Given the description of an element on the screen output the (x, y) to click on. 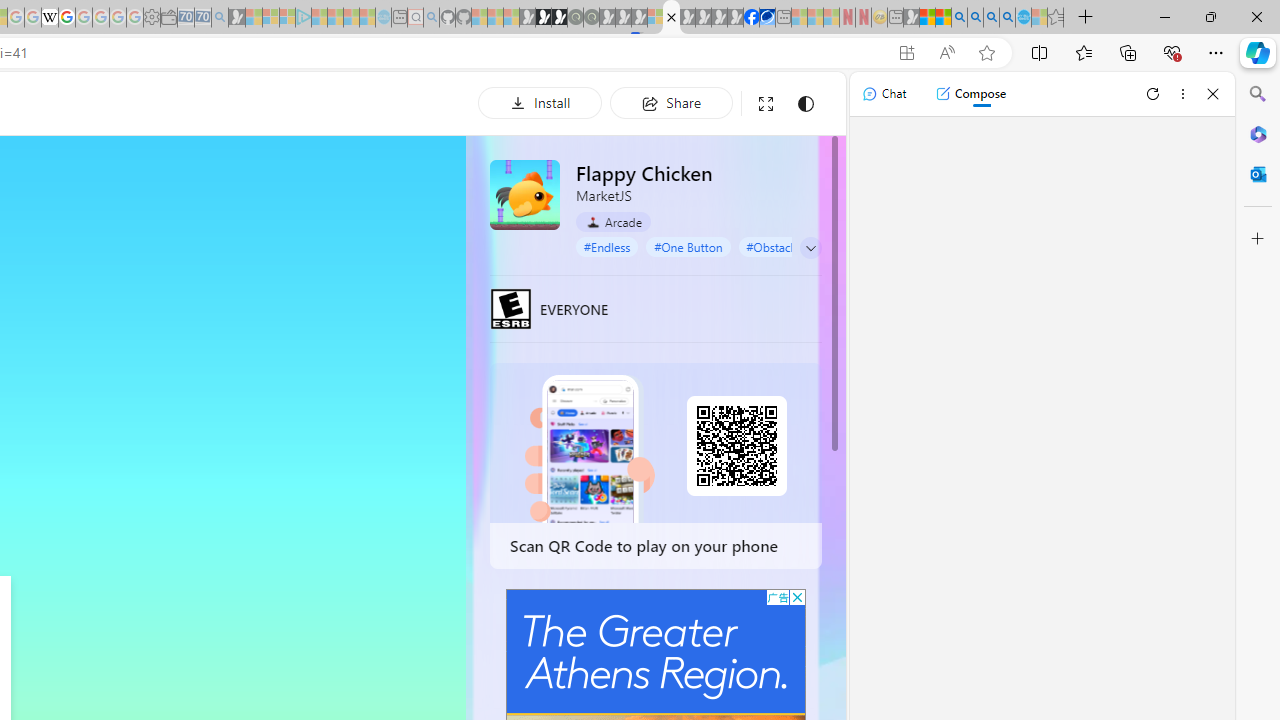
Arcade (613, 222)
Class: expand-arrow neutral (810, 247)
#One Button (688, 246)
Change to dark mode (805, 103)
EVERYONE (511, 308)
Bing AI - Search (959, 17)
Class: control (811, 248)
